Given the description of an element on the screen output the (x, y) to click on. 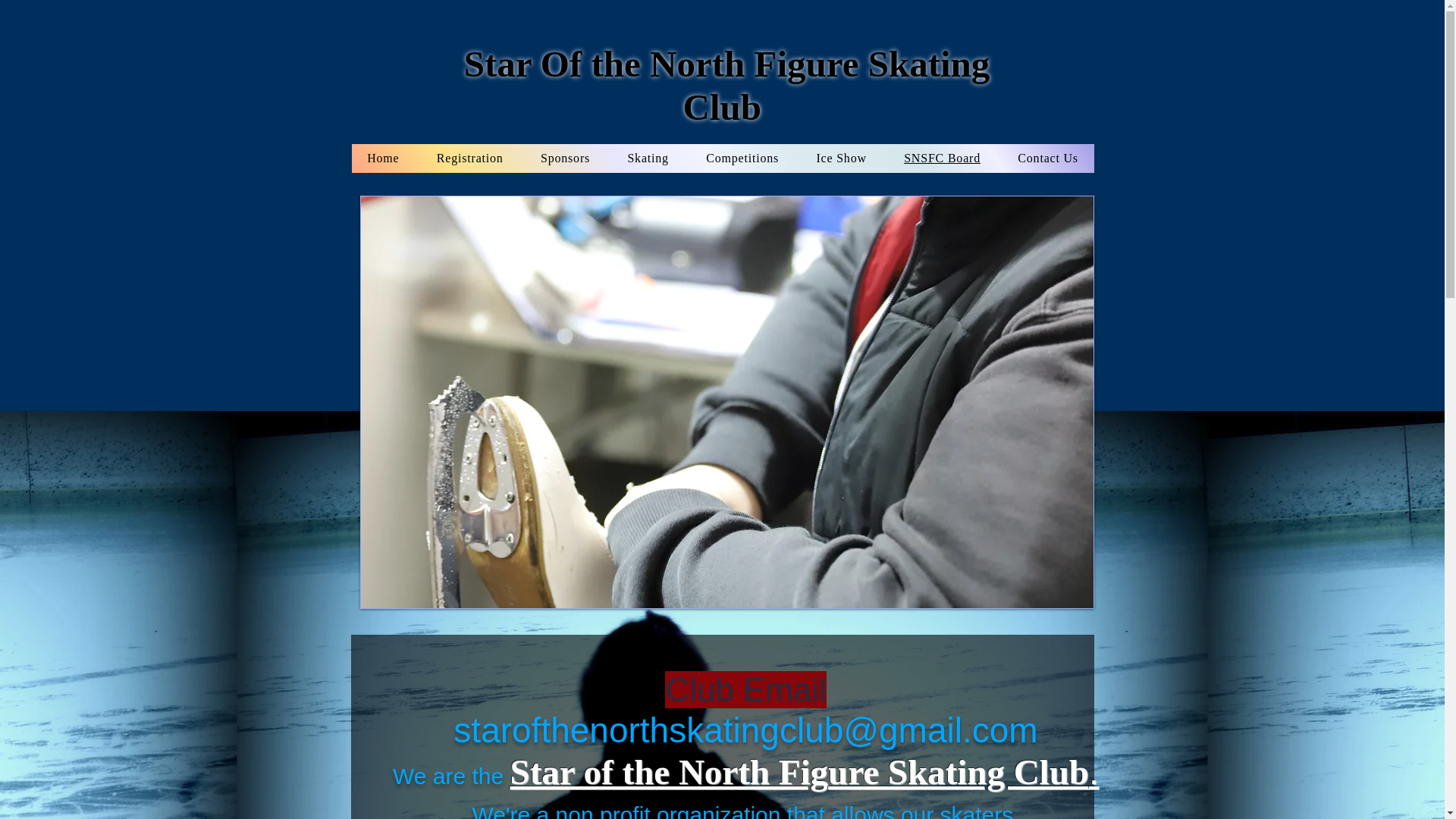
Contact Us (1048, 158)
Registration (469, 158)
SNSFC Board (941, 158)
Home (383, 158)
Ice Show (841, 158)
Skating (647, 158)
Competitions (742, 158)
Sponsors (564, 158)
